Given the description of an element on the screen output the (x, y) to click on. 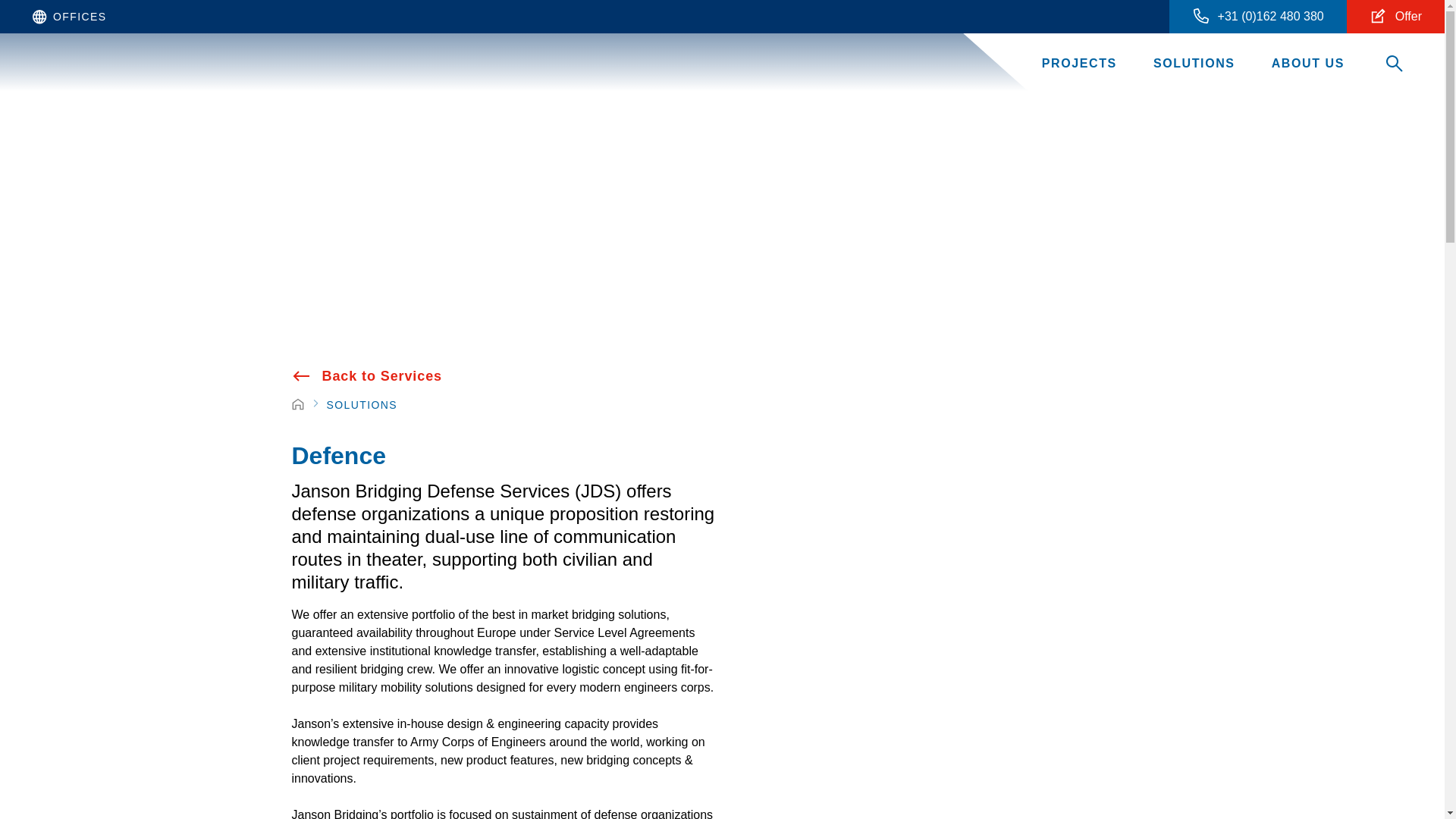
SOLUTIONS (1193, 63)
Solutions (361, 404)
Home (296, 404)
Back to Services (366, 375)
PROJECTS (1079, 63)
ABOUT US (1307, 63)
